Given the description of an element on the screen output the (x, y) to click on. 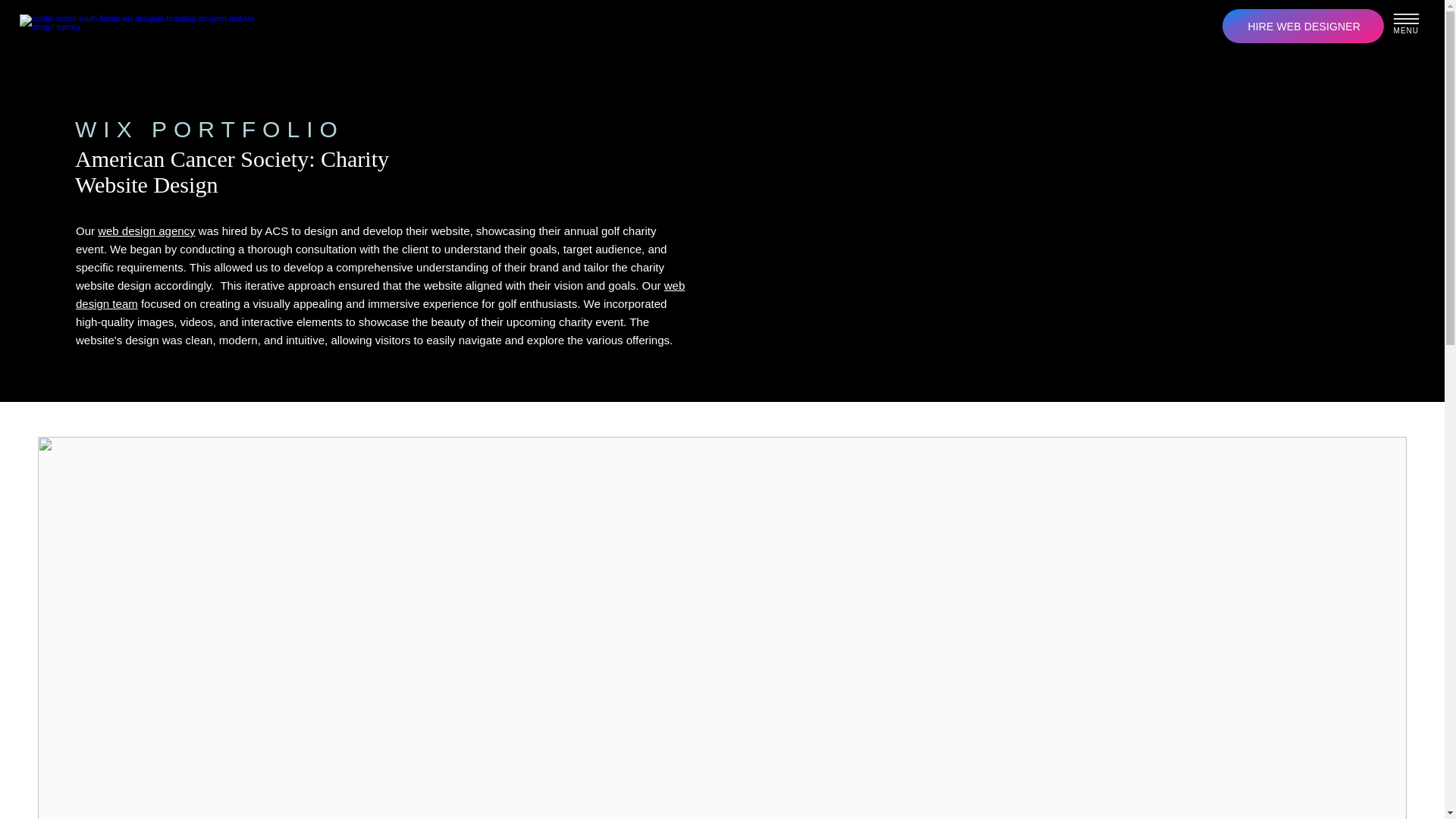
web design agency (146, 230)
HIRE WEB DESIGNER (1303, 26)
MENU (1406, 30)
web design team (379, 294)
